Given the description of an element on the screen output the (x, y) to click on. 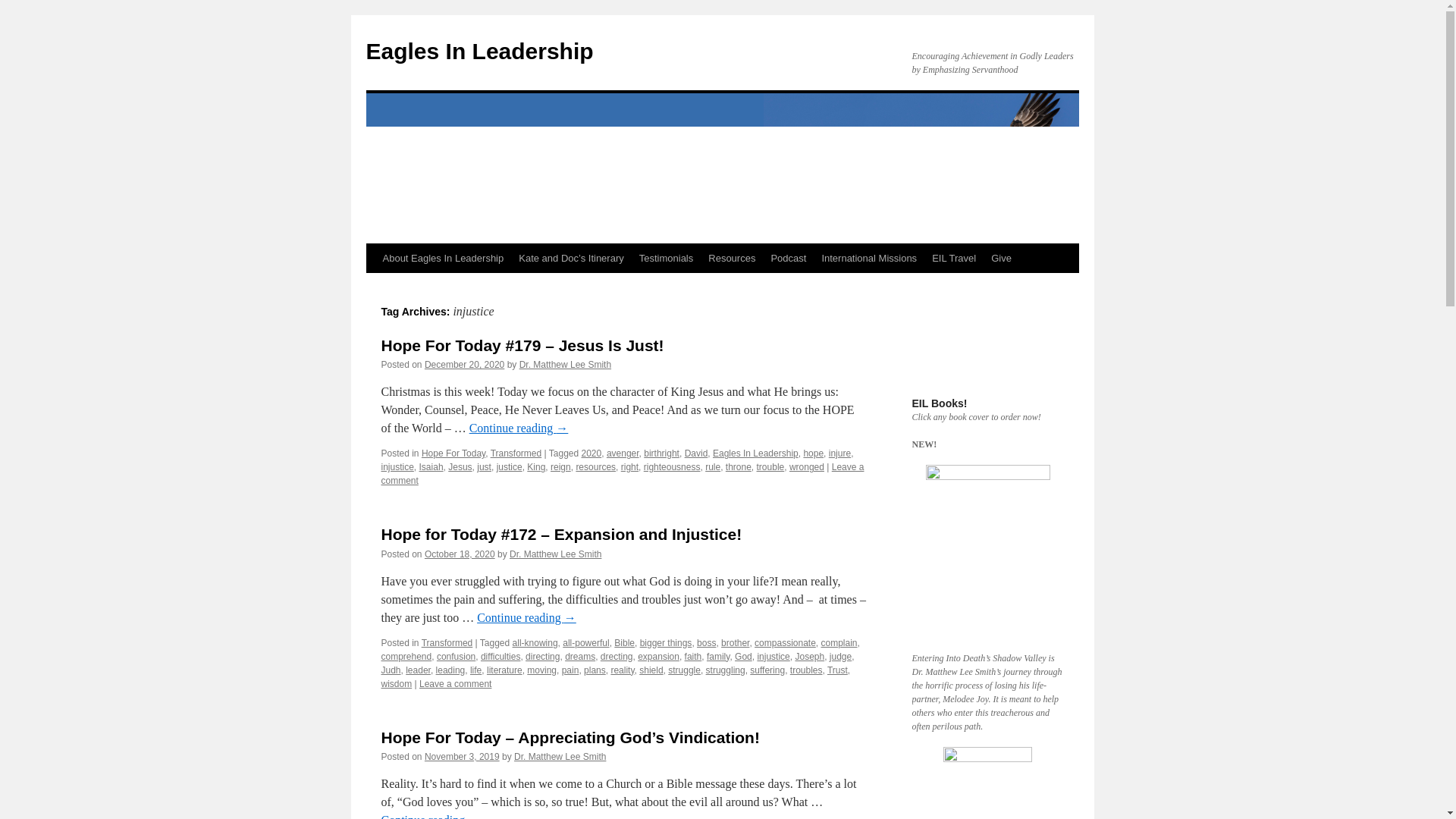
Podcast (787, 258)
avenger (623, 452)
12:01 am (464, 364)
December 20, 2020 (464, 364)
2020 (591, 452)
About Eagles In Leadership (442, 258)
View all posts by Dr. Matthew Lee Smith (565, 364)
EIL Travel (954, 258)
12:01 am (460, 553)
International Missions (868, 258)
